Given the description of an element on the screen output the (x, y) to click on. 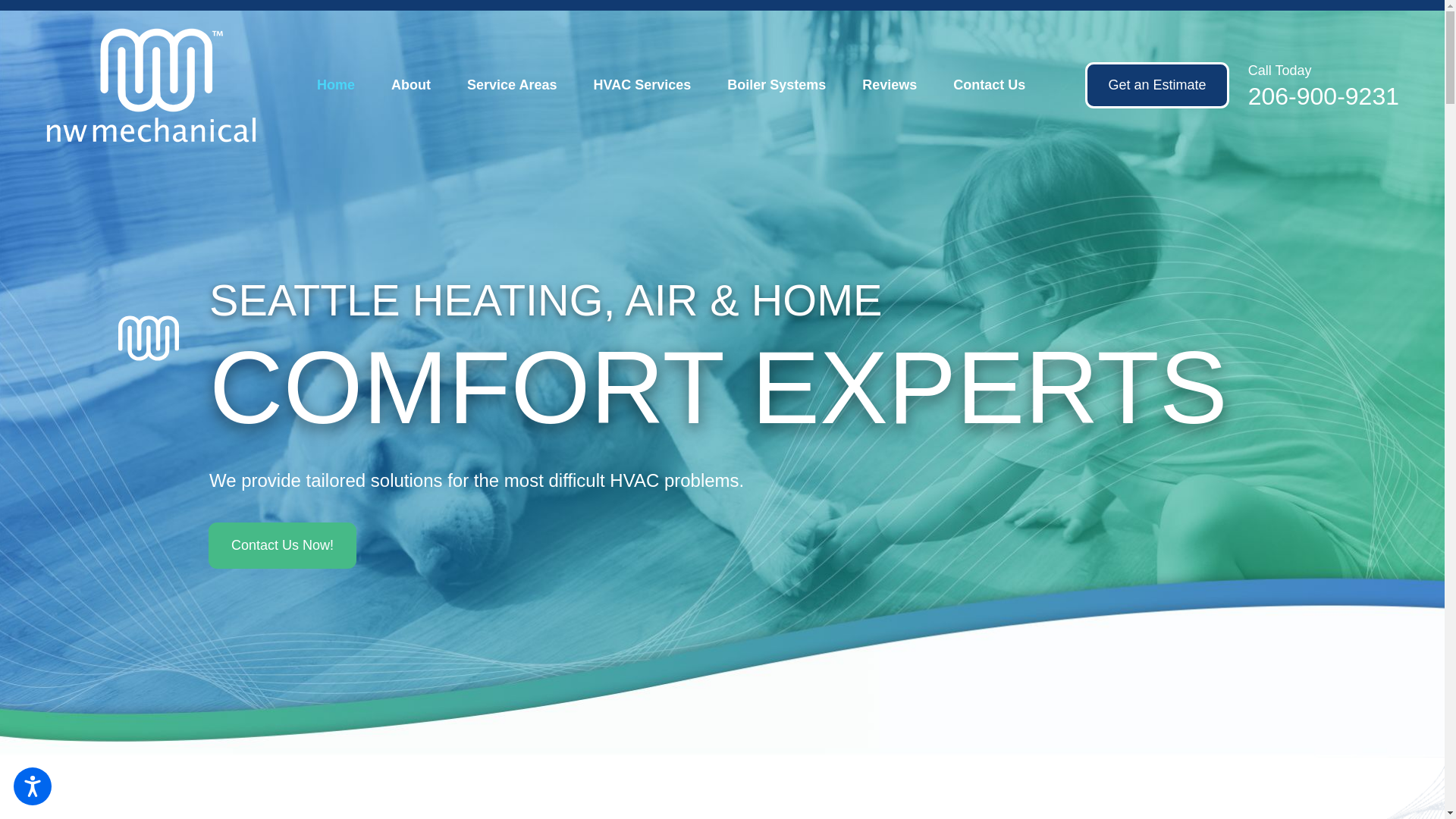
About (410, 85)
HVAC Services (642, 85)
Boiler Systems (776, 85)
Contact Us Now! (282, 545)
Northwest Mechanical, Inc. (151, 85)
206-900-9231 (1323, 95)
Get an Estimate (1156, 85)
Service Areas (511, 85)
Open the accessibility options menu (31, 786)
